Given the description of an element on the screen output the (x, y) to click on. 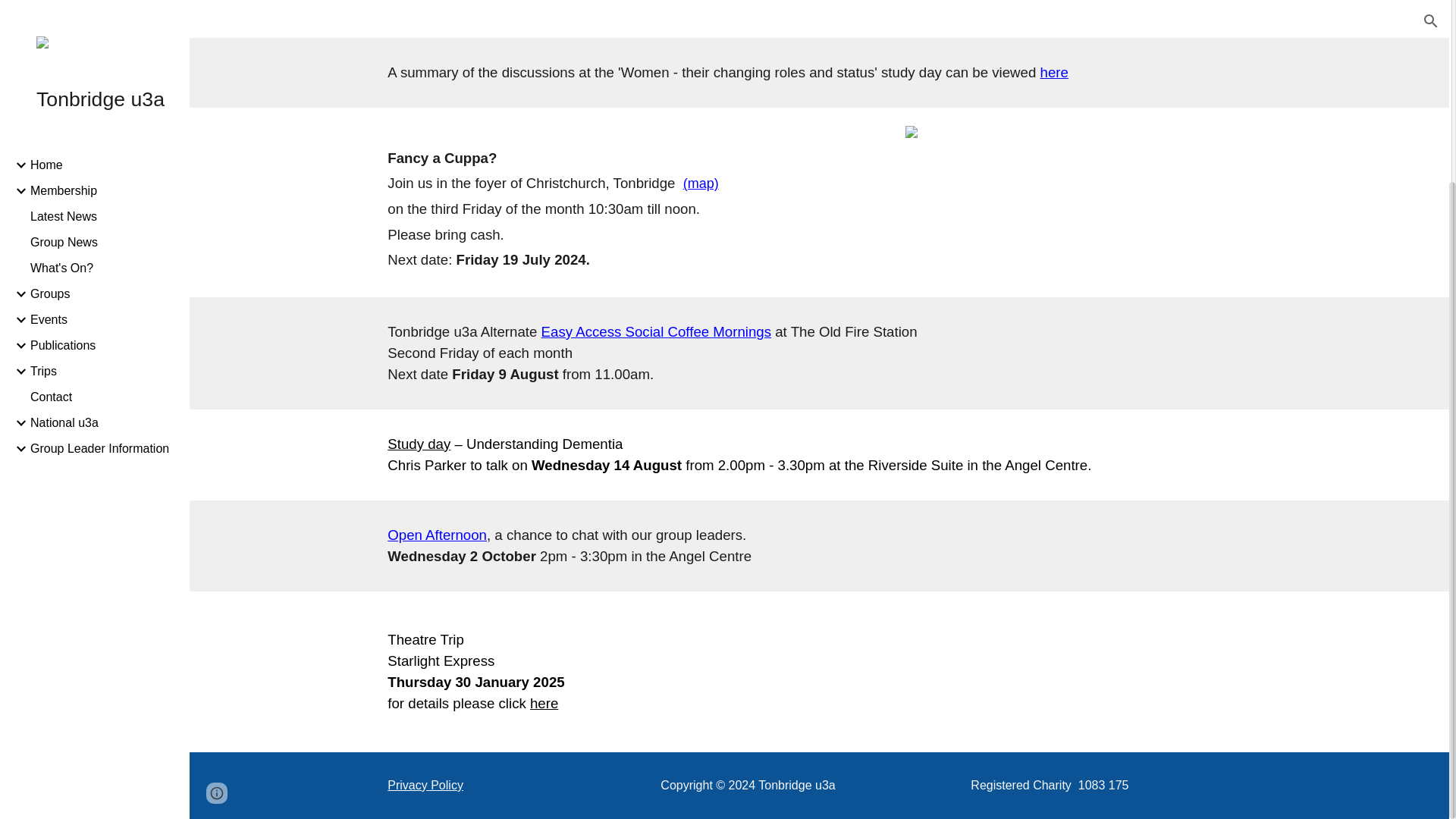
Group News (103, 8)
What's On? (103, 34)
Groups (103, 60)
